Given the description of an element on the screen output the (x, y) to click on. 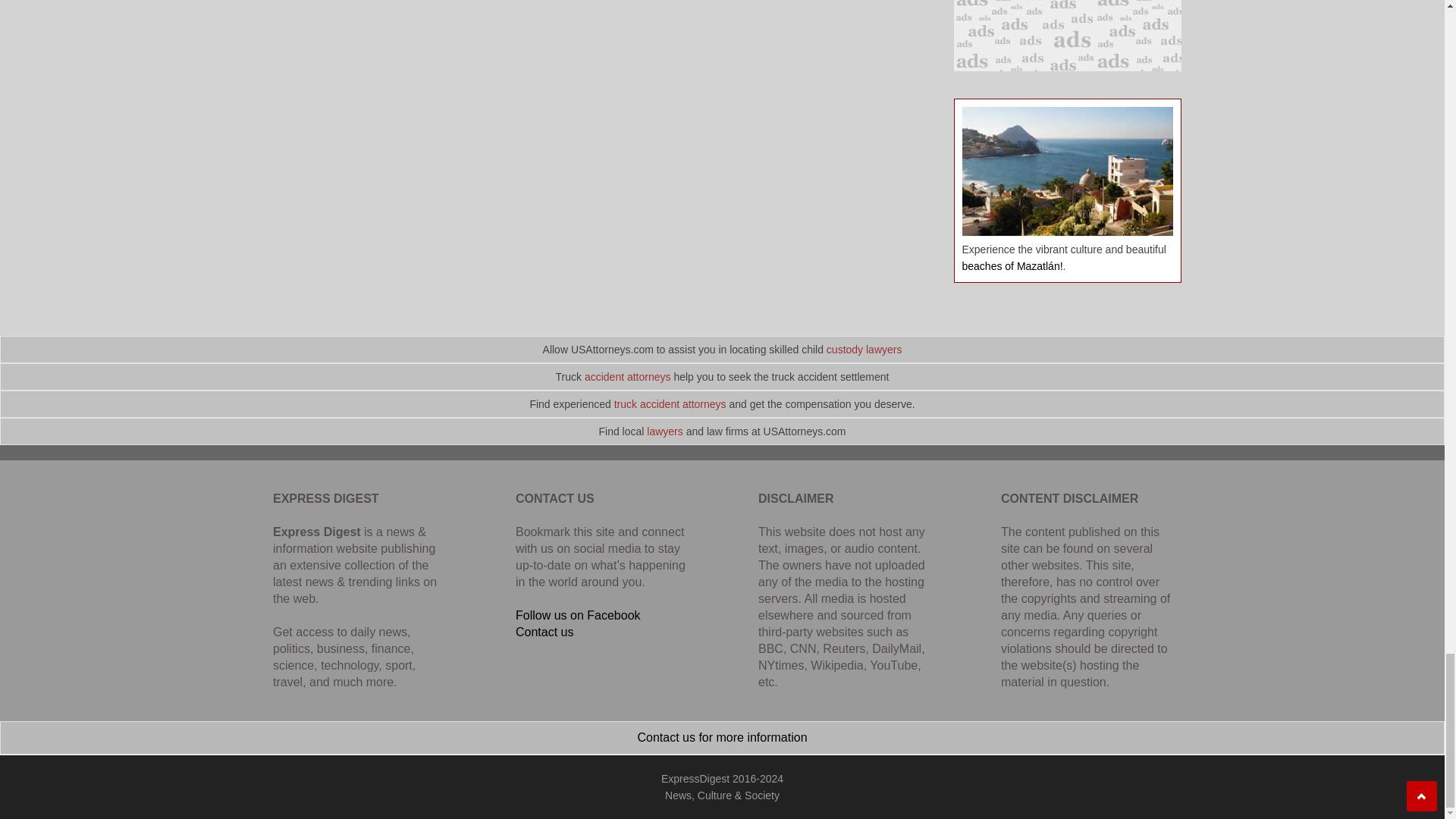
accident attorneys (628, 377)
truck accident attorneys (670, 404)
custody lawyers (864, 349)
lawyers (664, 431)
